Given the description of an element on the screen output the (x, y) to click on. 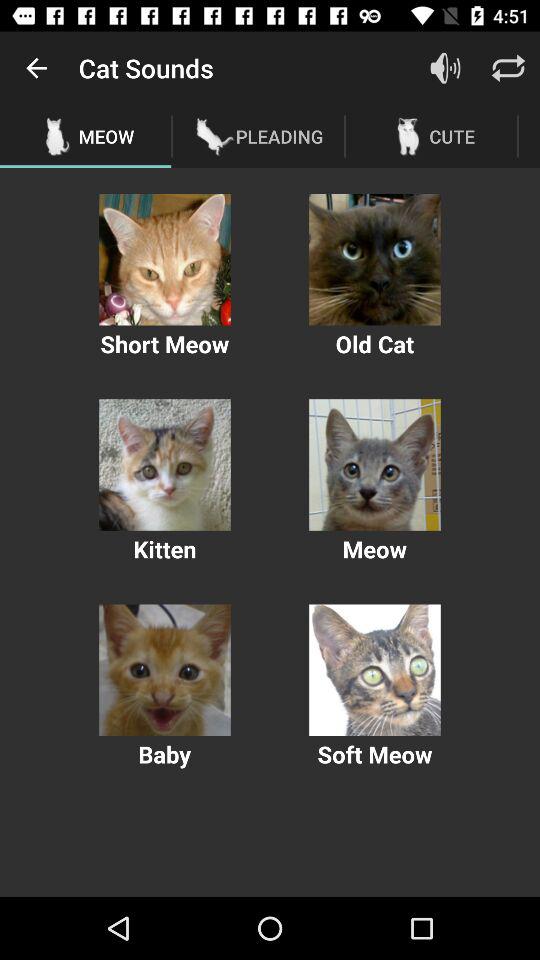
expand this picture (164, 464)
